Given the description of an element on the screen output the (x, y) to click on. 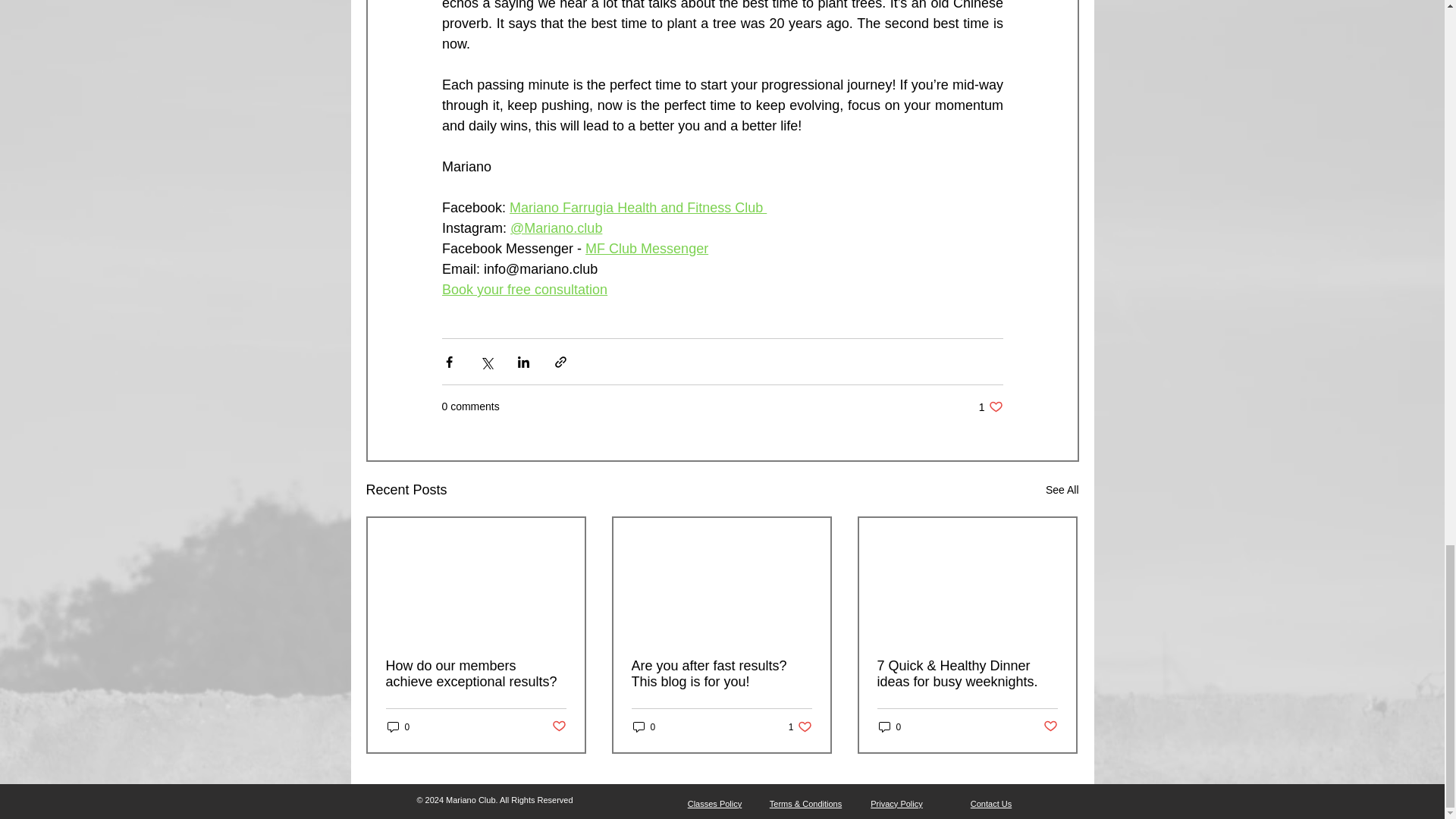
Are you after fast results? This blog is for you! (720, 674)
0 (643, 726)
Contact Us (991, 803)
Privacy Policy (895, 803)
Post not marked as liked (558, 726)
Mariano Farrugia Health and Fitness Club  (638, 207)
How do our members achieve exceptional results? (475, 674)
Book your free consultation (524, 289)
See All (1061, 490)
0 (889, 726)
